Given the description of an element on the screen output the (x, y) to click on. 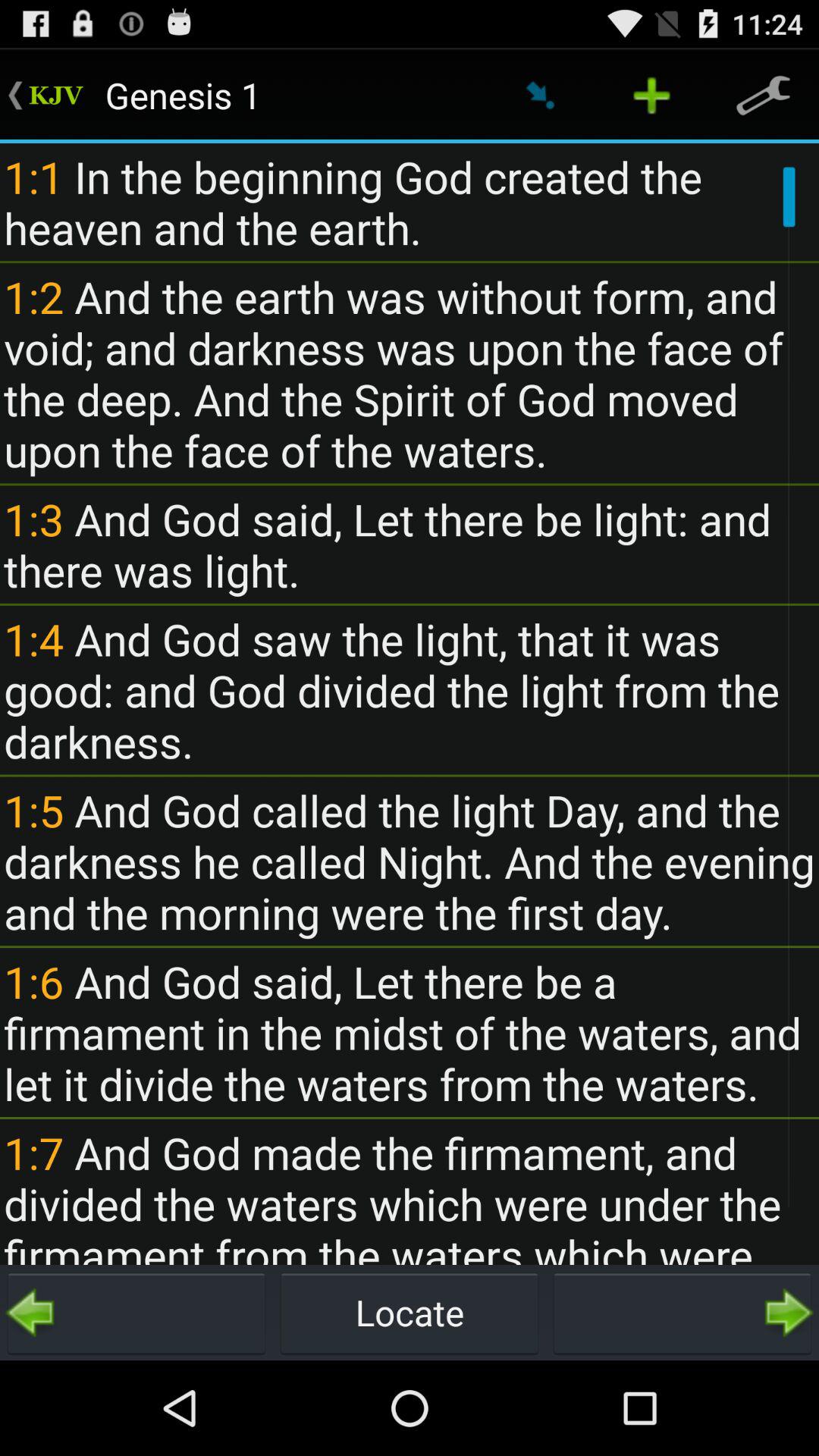
launch app above 1 1 in (763, 95)
